Given the description of an element on the screen output the (x, y) to click on. 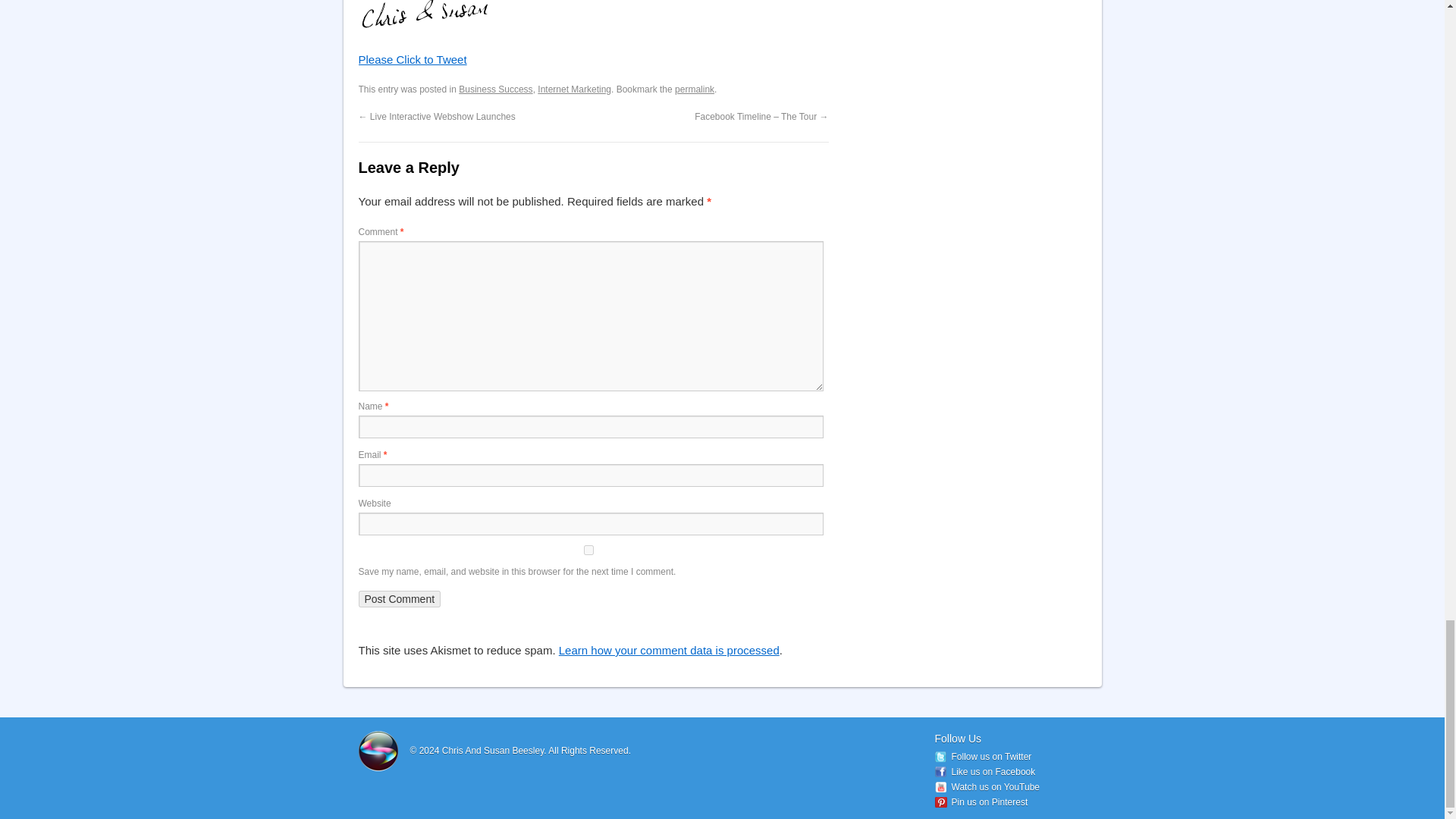
Internet Marketing (574, 89)
Please Click to Tweet (411, 59)
Business Success (495, 89)
yes (588, 550)
Post Comment (399, 598)
Post Comment (399, 598)
Learn how your comment data is processed (668, 649)
permalink (694, 89)
